Given the description of an element on the screen output the (x, y) to click on. 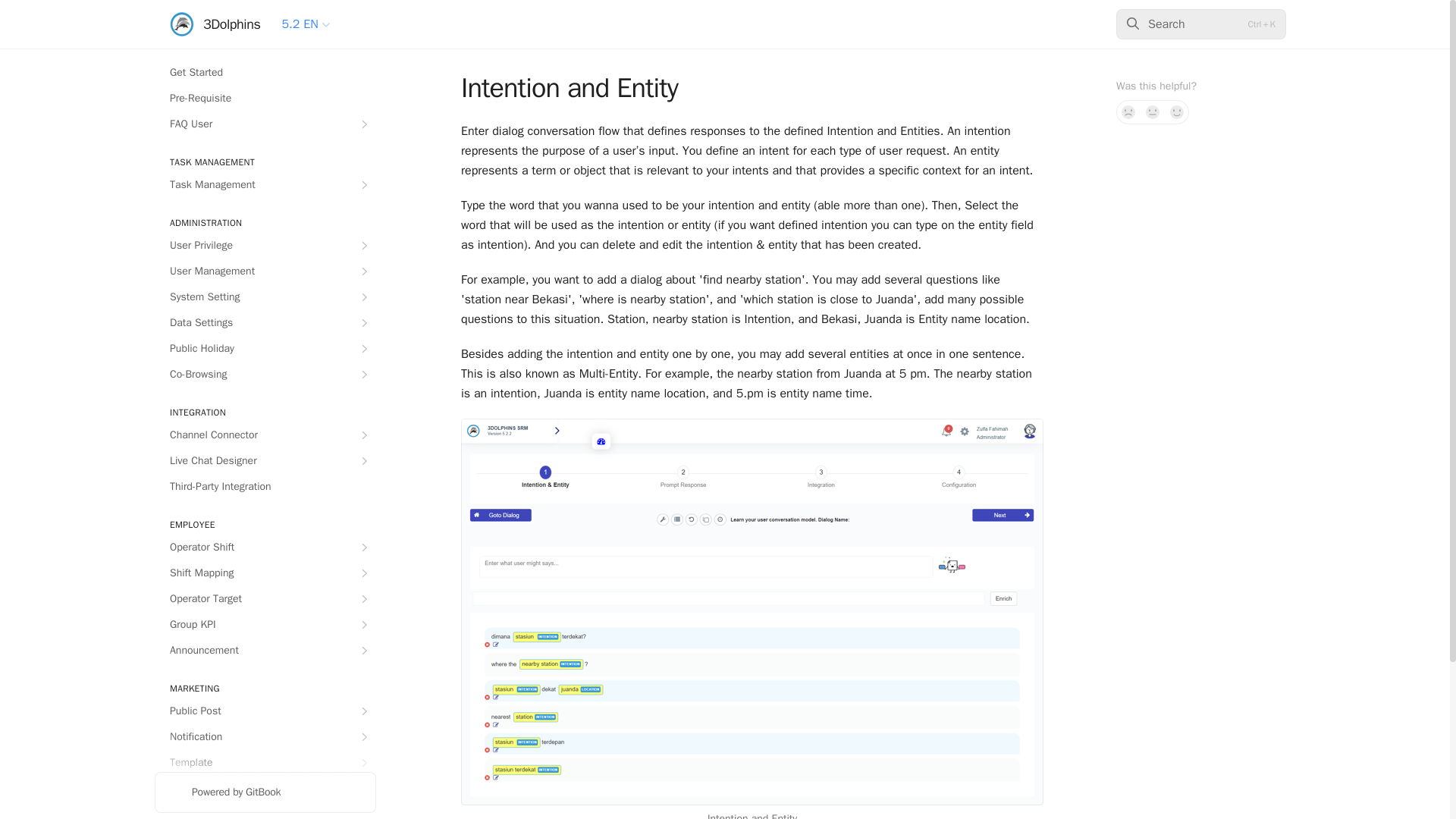
Yes, it was! (1176, 111)
User Privilege (264, 245)
Get Started (264, 72)
Task Management (264, 184)
No (1128, 111)
Pre-Requisite (264, 98)
FAQ User (264, 124)
3Dolphins (215, 24)
Not sure (1152, 111)
